Given the description of an element on the screen output the (x, y) to click on. 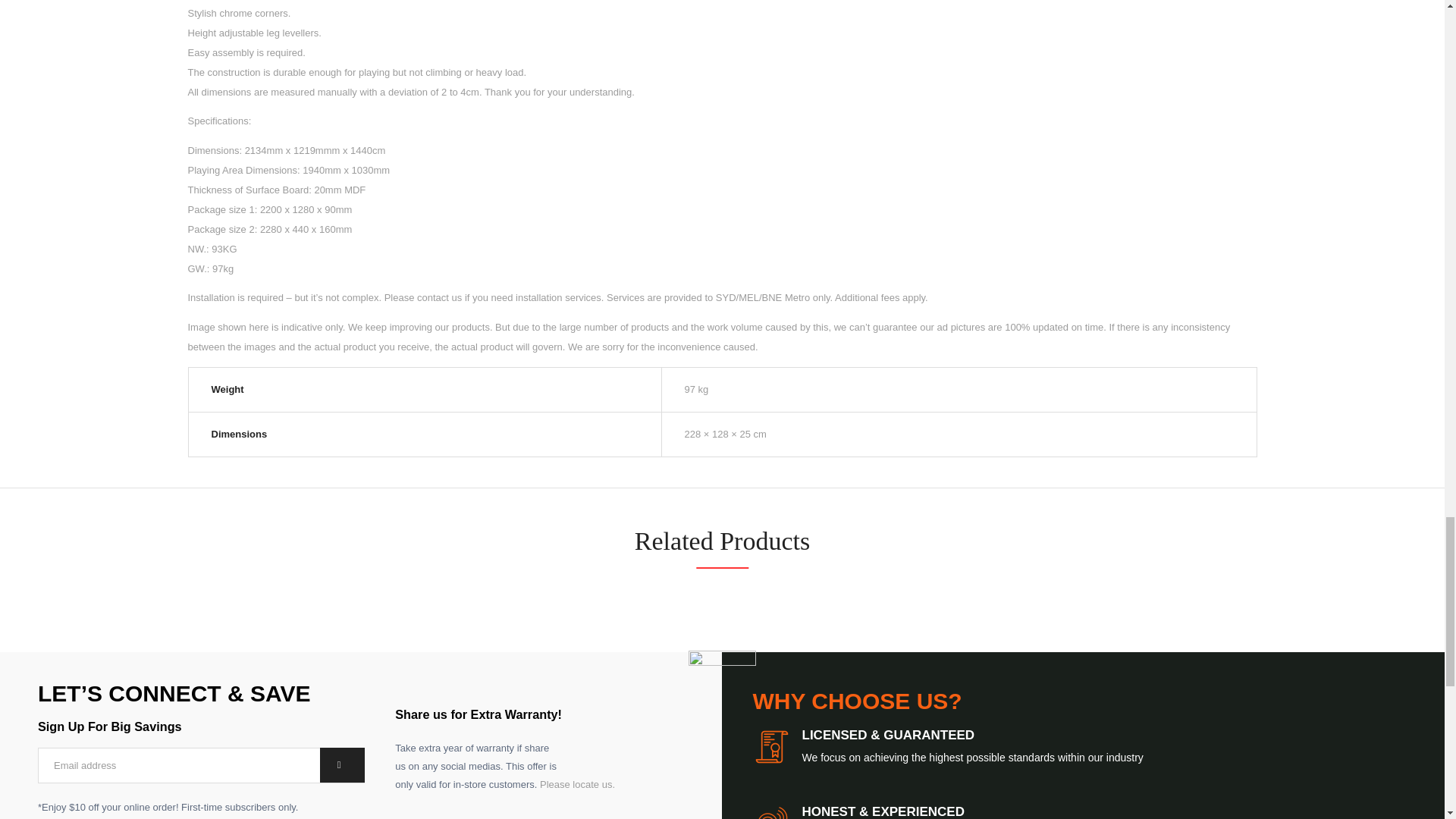
Subscribe (342, 764)
